Given the description of an element on the screen output the (x, y) to click on. 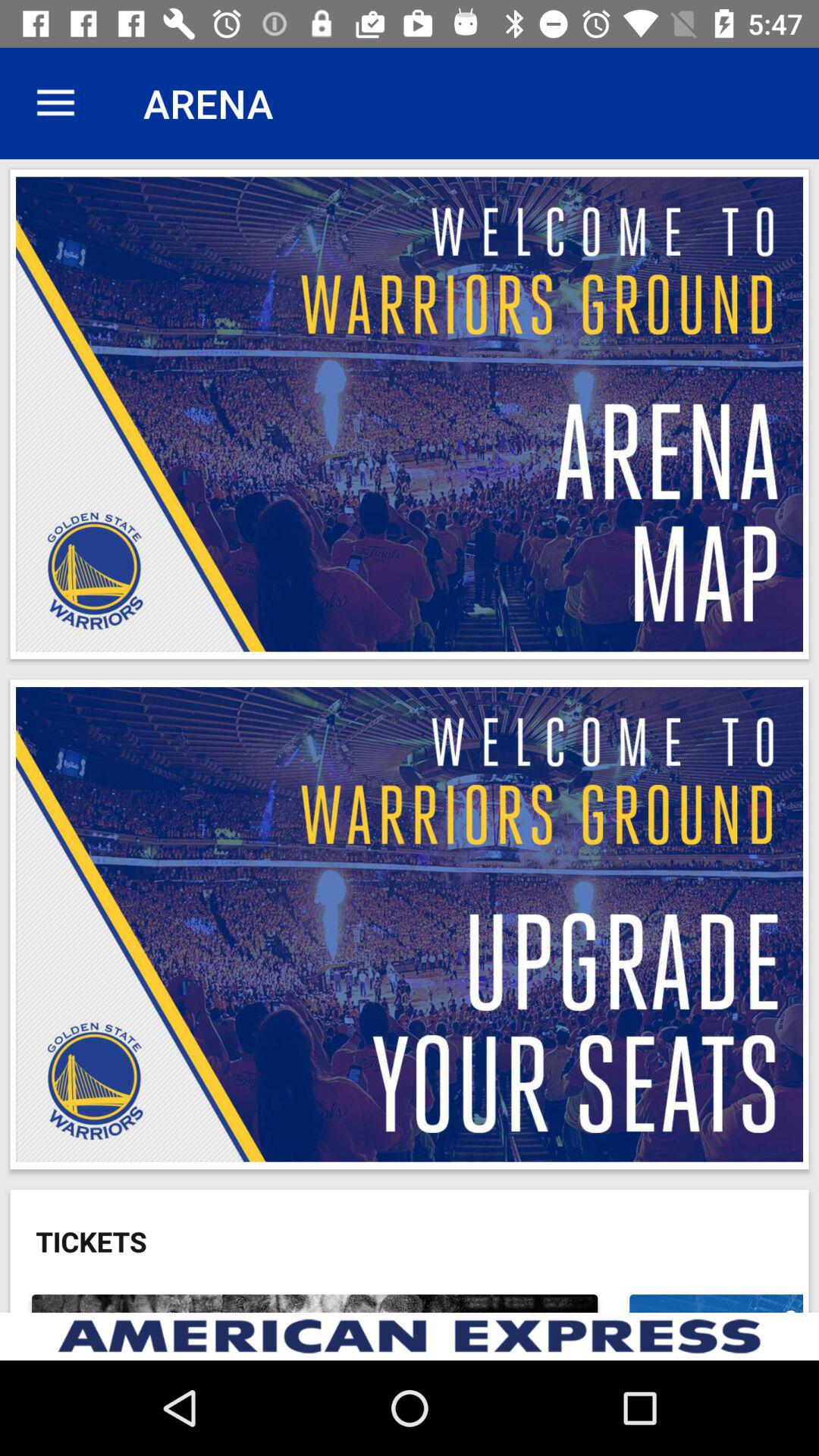
click the item next to arena item (55, 103)
